Given the description of an element on the screen output the (x, y) to click on. 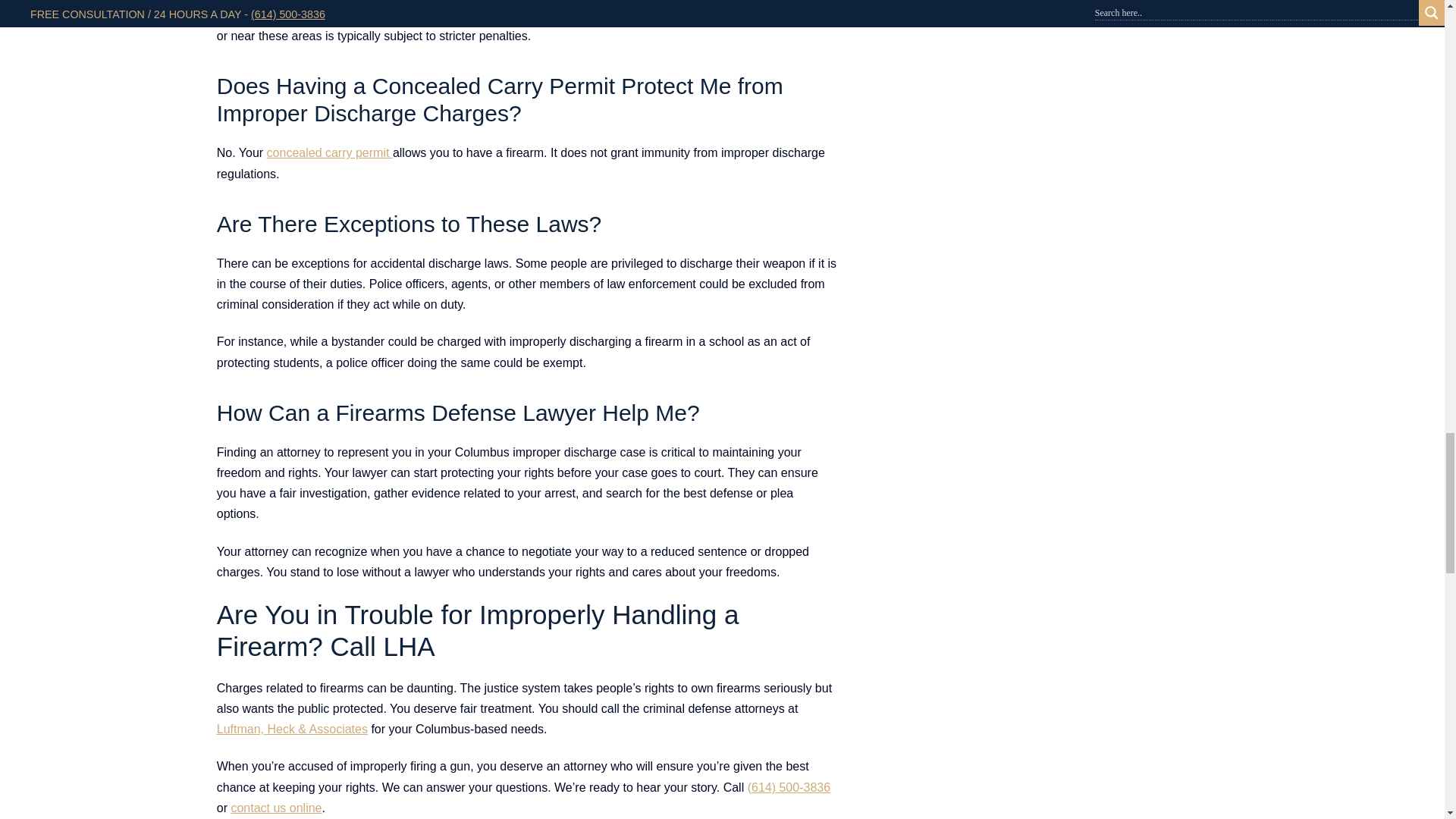
Luftman Heck and Associates (788, 787)
